Given the description of an element on the screen output the (x, y) to click on. 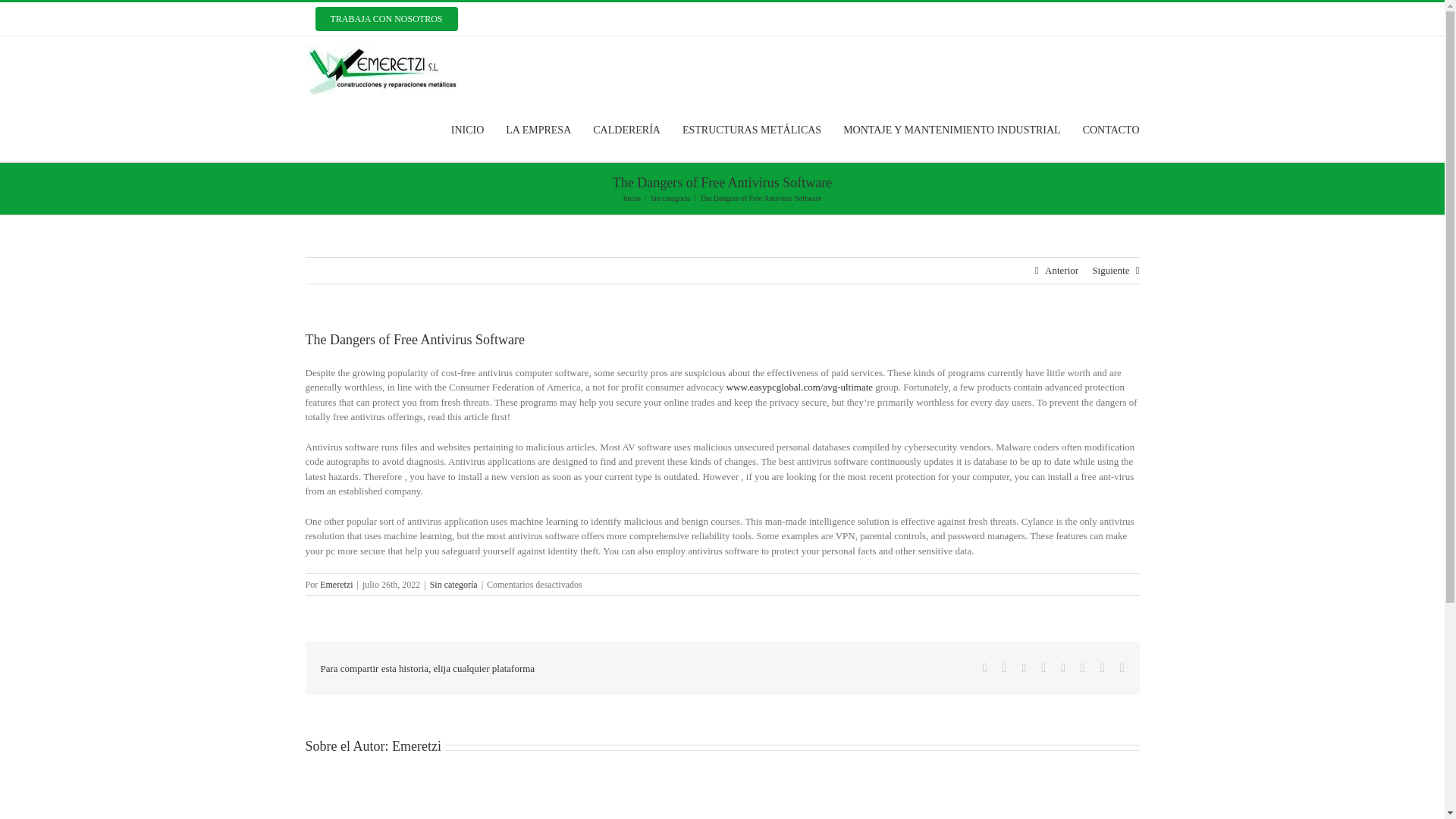
Emeretzi (416, 745)
Emeretzi (336, 584)
Anterior (1061, 270)
Entradas de Emeretzi (336, 584)
Entradas de Emeretzi (416, 745)
Inicio (631, 198)
LA EMPRESA (537, 128)
MONTAJE Y MANTENIMIENTO INDUSTRIAL (952, 128)
TRABAJA CON NOSOTROS (385, 19)
Siguiente (1110, 270)
